Given the description of an element on the screen output the (x, y) to click on. 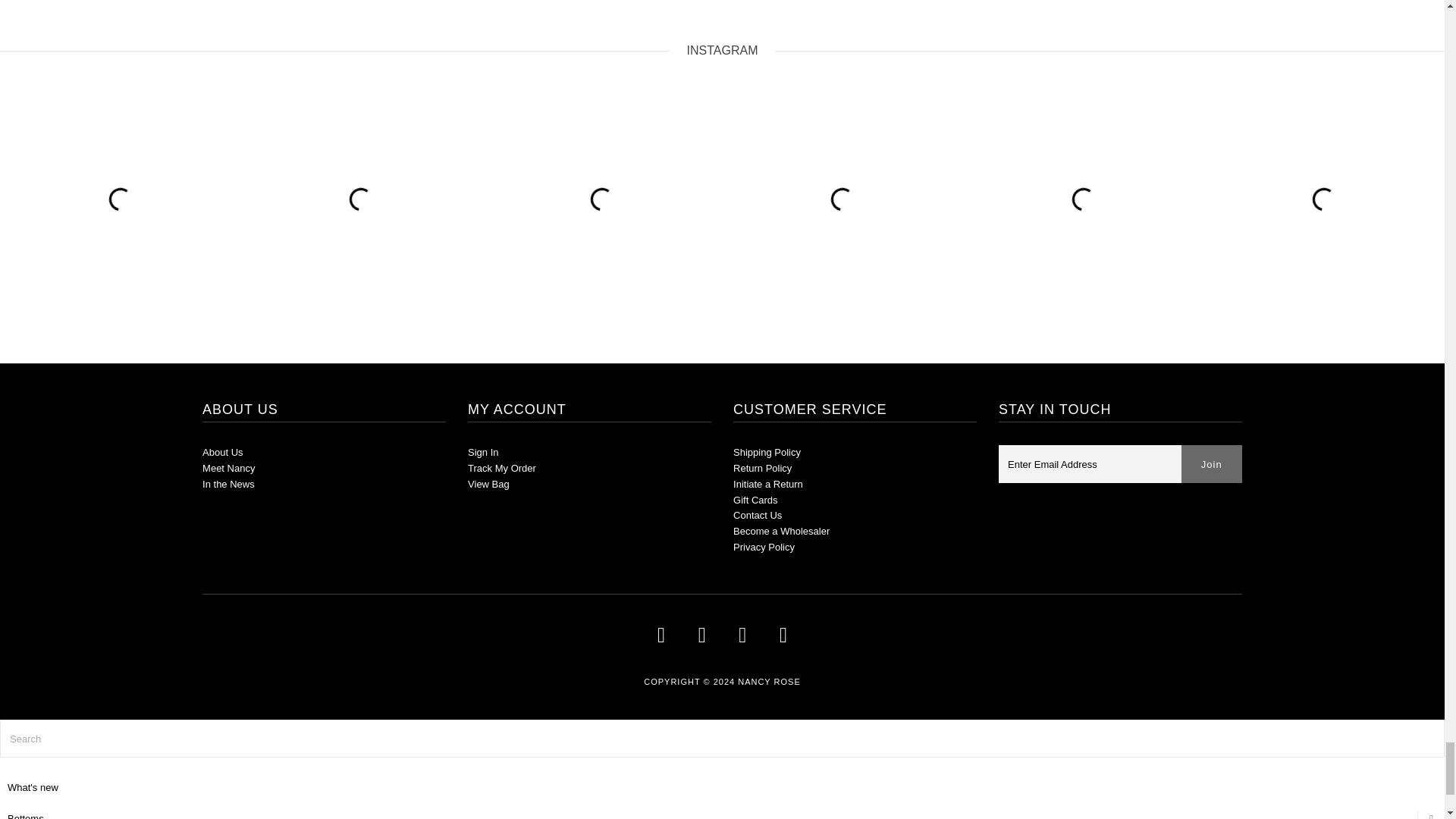
Join (1210, 464)
